Given the description of an element on the screen output the (x, y) to click on. 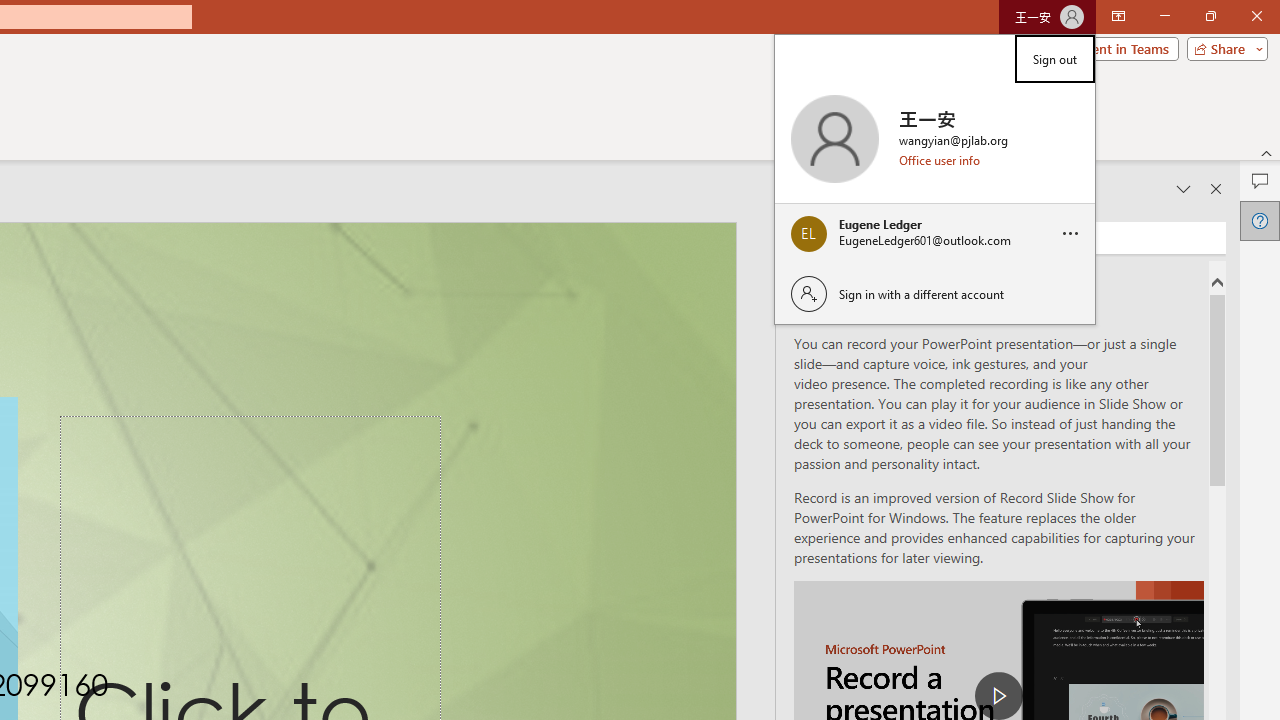
play Record a Presentation (998, 695)
